Given the description of an element on the screen output the (x, y) to click on. 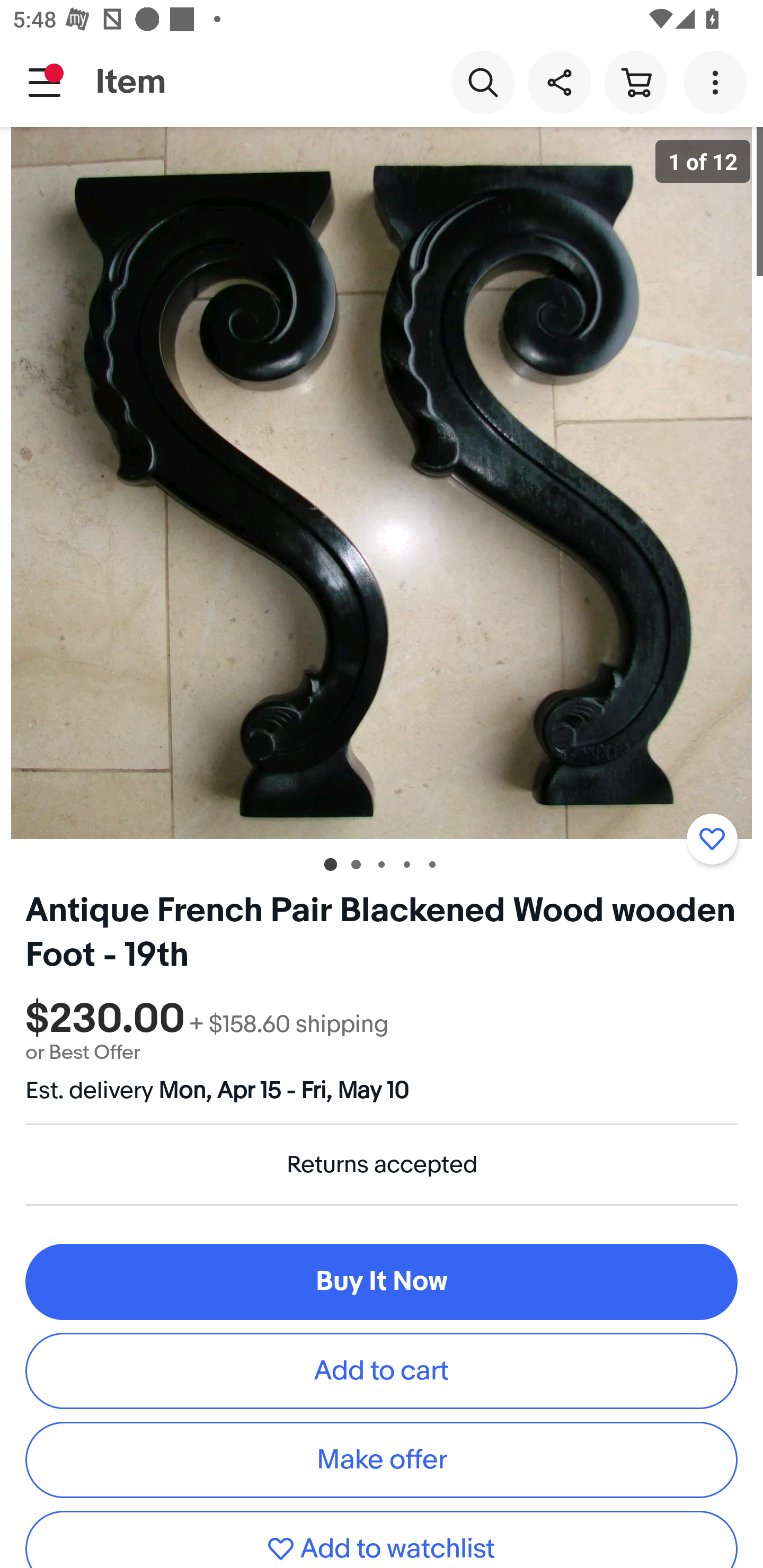
Main navigation, notification is pending, open (44, 82)
Search (482, 81)
Share this item (559, 81)
Cart button shopping cart (635, 81)
More options (718, 81)
Item image 1 of 12 (381, 482)
Add to watchlist (711, 838)
Buy It Now (381, 1281)
Add to cart (381, 1370)
Make offer (381, 1459)
Add to watchlist (381, 1539)
